Given the description of an element on the screen output the (x, y) to click on. 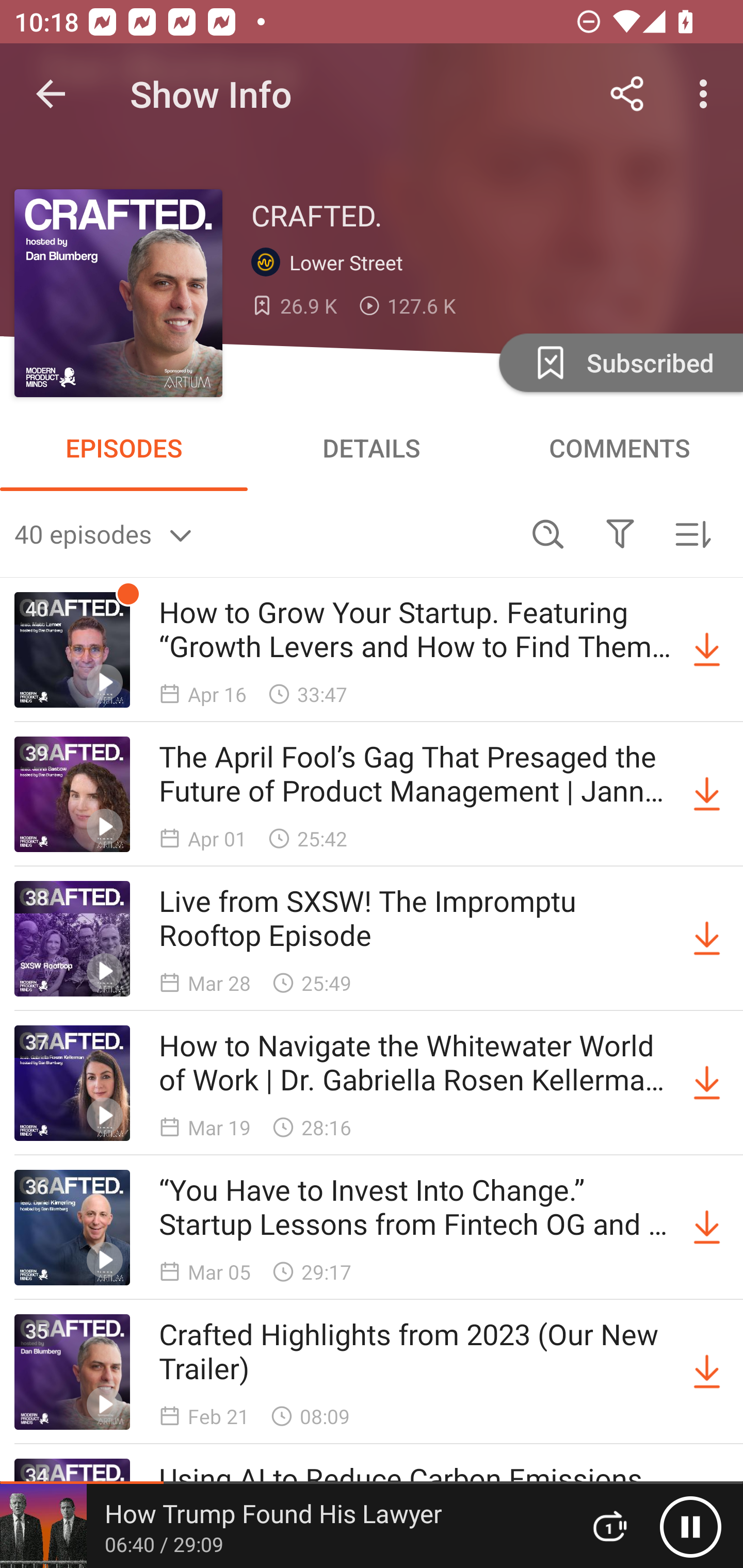
Navigate up (50, 93)
Share (626, 93)
More options (706, 93)
Lower Street (331, 262)
Unsubscribe Subscribed (619, 361)
EPISODES (123, 447)
DETAILS (371, 447)
COMMENTS (619, 447)
40 episodes  (262, 533)
 Search (547, 533)
 (619, 533)
 Sorted by newest first (692, 533)
Download (706, 649)
Download (706, 793)
Download (706, 939)
Download (706, 1083)
Download (706, 1227)
Download (706, 1371)
How Trump Found His Lawyer 06:40 / 29:09 (283, 1525)
Pause (690, 1526)
